Given the description of an element on the screen output the (x, y) to click on. 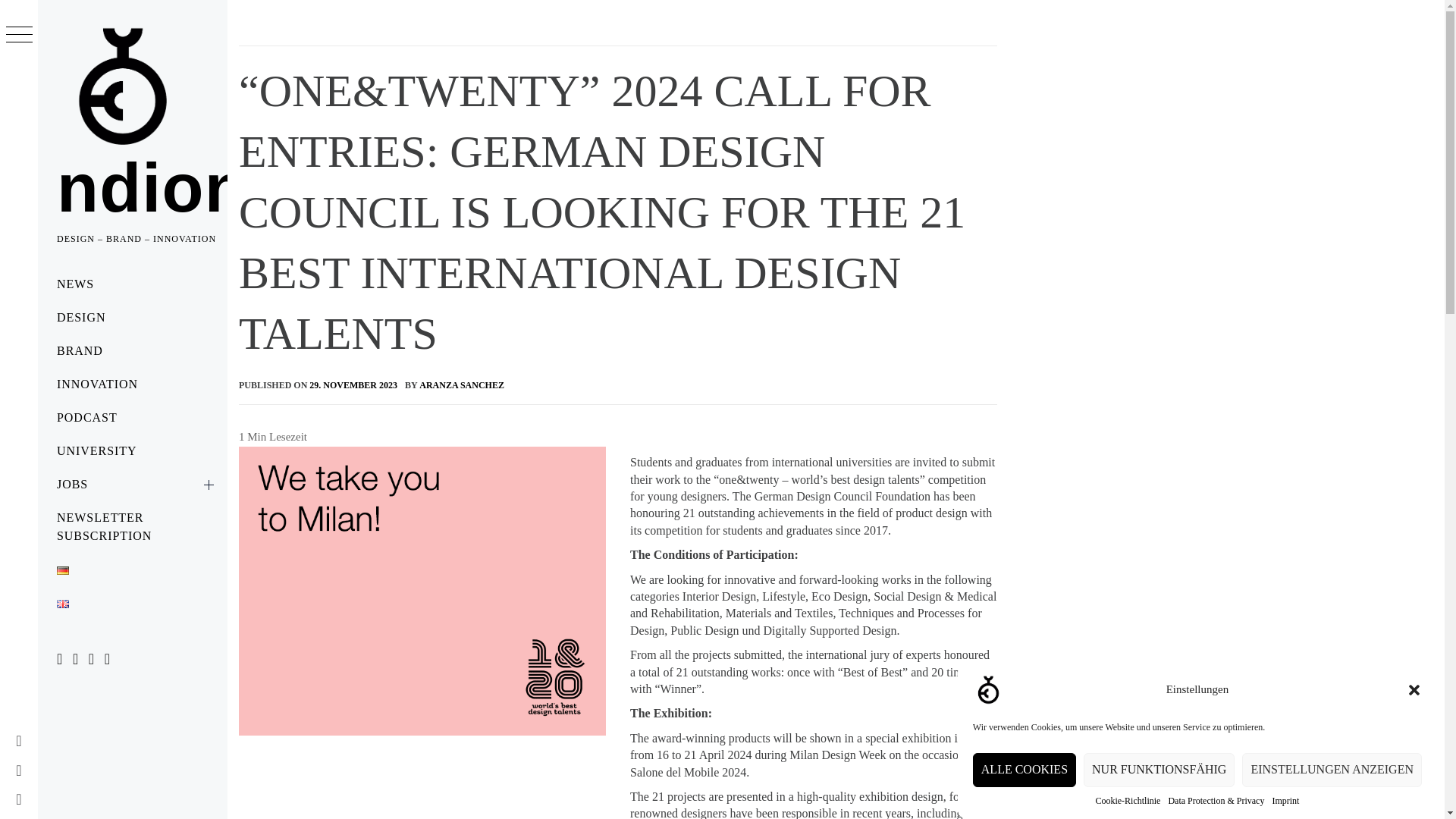
ndion (151, 187)
NEWS (132, 284)
Search (646, 37)
PODCAST (132, 417)
INNOVATION (132, 384)
ARANZA SANCHEZ (461, 385)
DESIGN (132, 317)
NEWSLETTER SUBSCRIPTION (132, 526)
UNIVERSITY (132, 450)
BRAND (132, 350)
29. NOVEMBER 2023 (352, 385)
JOBS (132, 484)
